Given the description of an element on the screen output the (x, y) to click on. 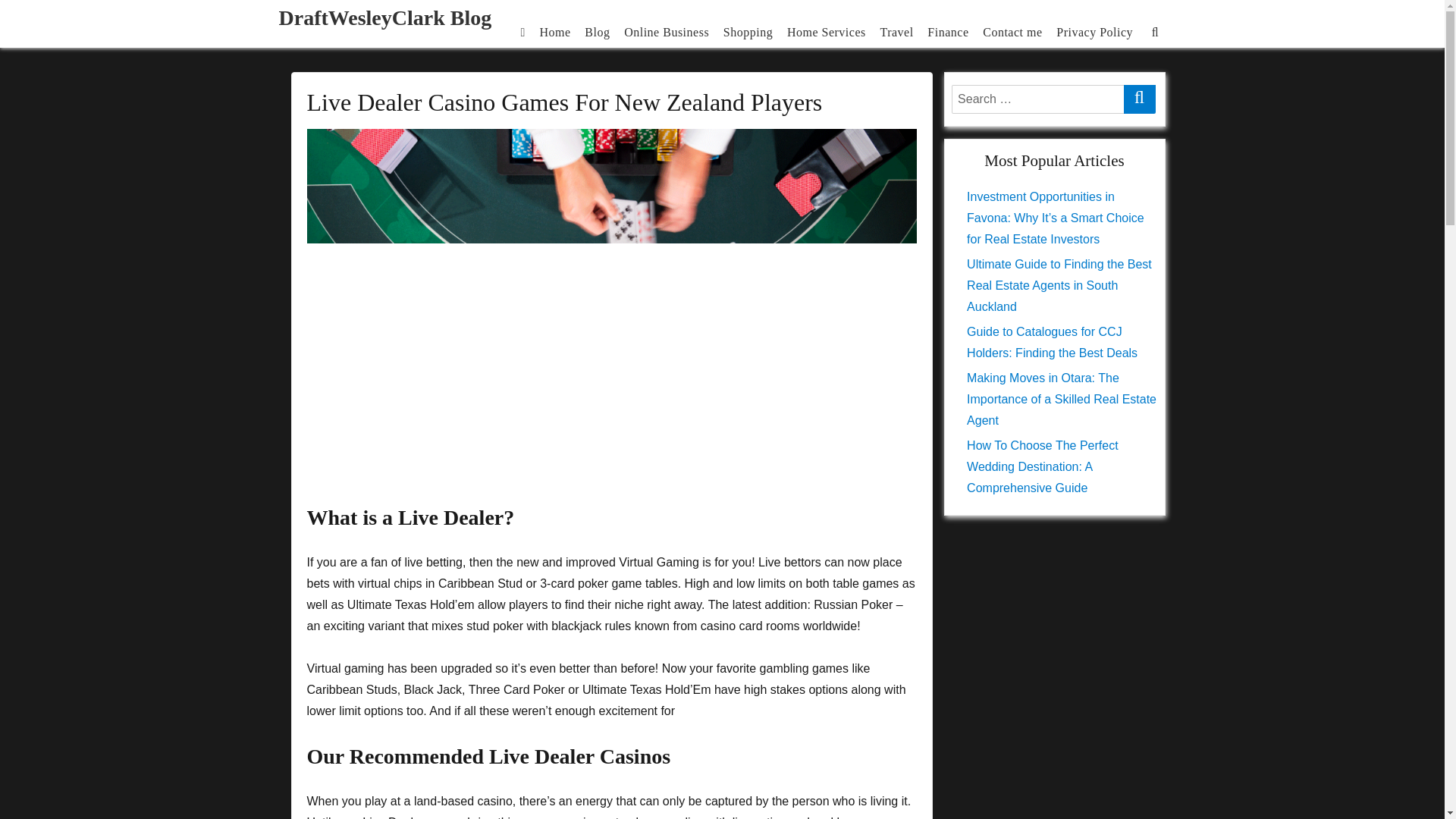
Home (555, 31)
Travel (896, 31)
Finance (947, 31)
Home Services (826, 31)
Guide to Catalogues for CCJ Holders: Finding the Best Deals (1051, 342)
Shopping (747, 31)
Blog (597, 31)
Contact me (1012, 31)
